Given the description of an element on the screen output the (x, y) to click on. 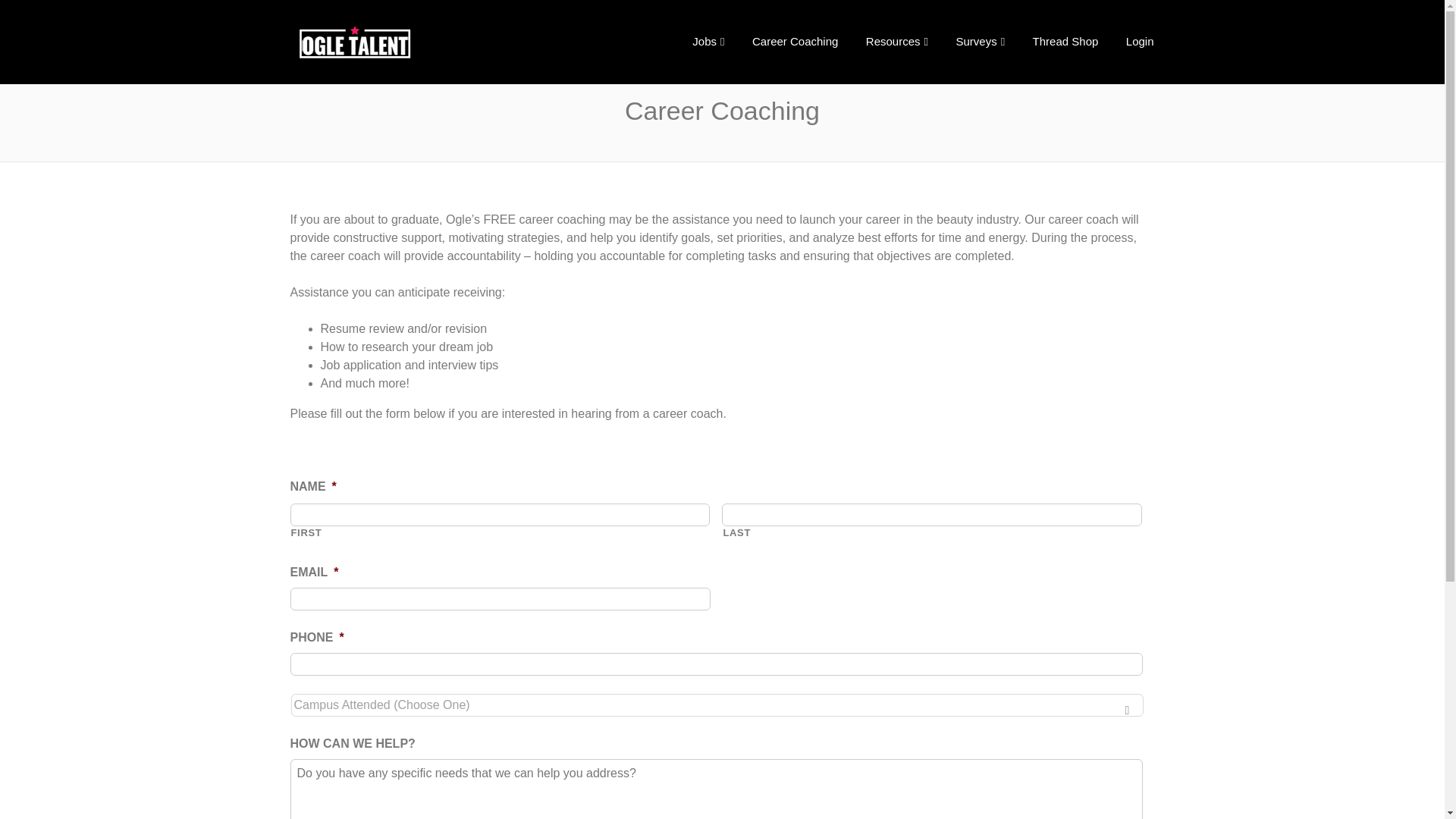
Career Coaching (794, 41)
Ogle Talent (398, 42)
Thread Shop (1065, 41)
Resources (896, 41)
Jobs (707, 41)
Surveys (979, 41)
Login (1139, 41)
OGLE TALENT (398, 42)
